Given the description of an element on the screen output the (x, y) to click on. 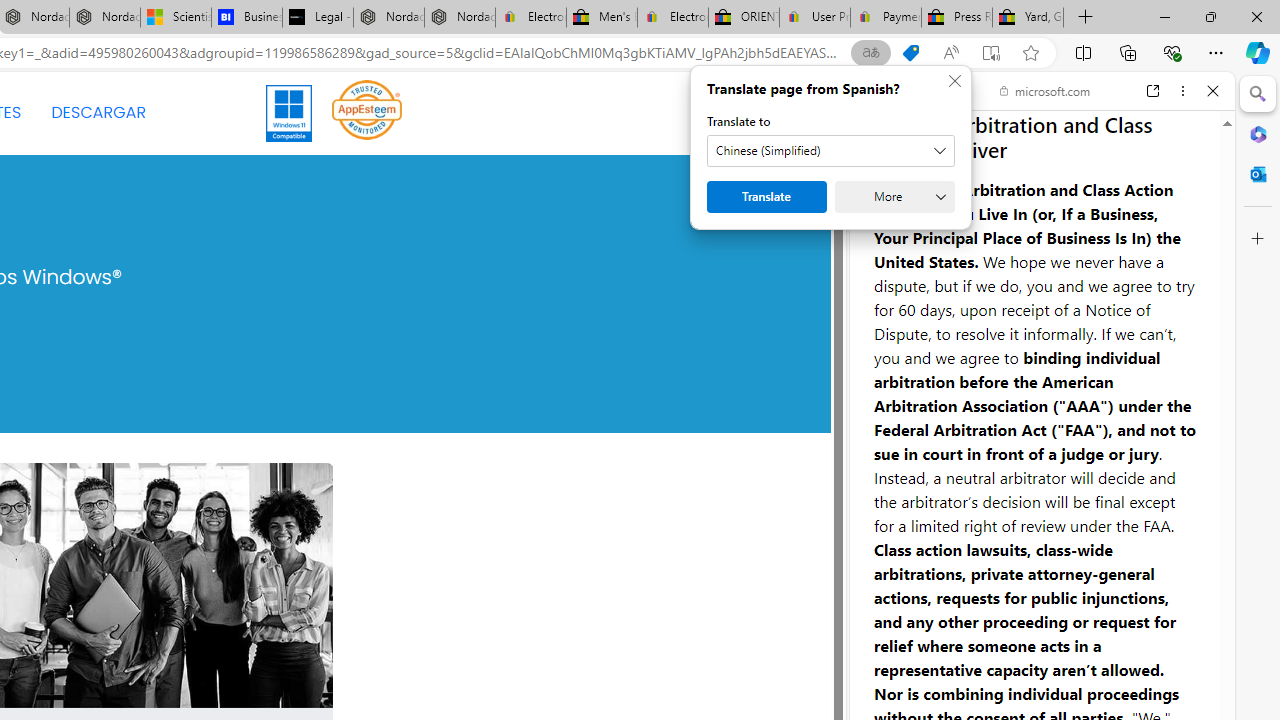
More (894, 196)
